Given the description of an element on the screen output the (x, y) to click on. 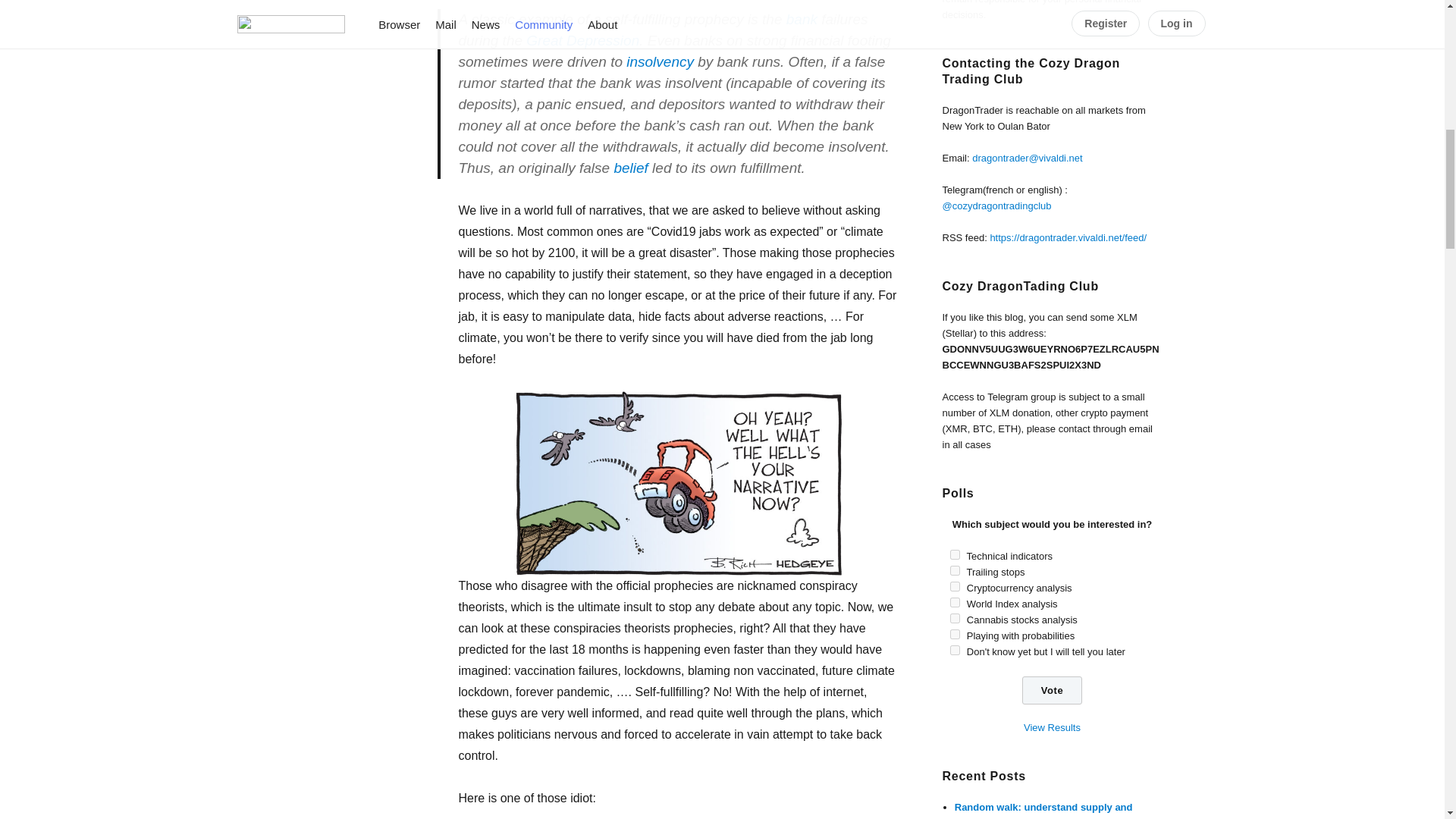
bank (801, 19)
32 (954, 570)
52 (954, 650)
44 (954, 618)
28 (954, 554)
48 (954, 634)
insolvency (660, 61)
View Results Of This Poll (1051, 727)
View Results (1051, 727)
40 (954, 602)
